Given the description of an element on the screen output the (x, y) to click on. 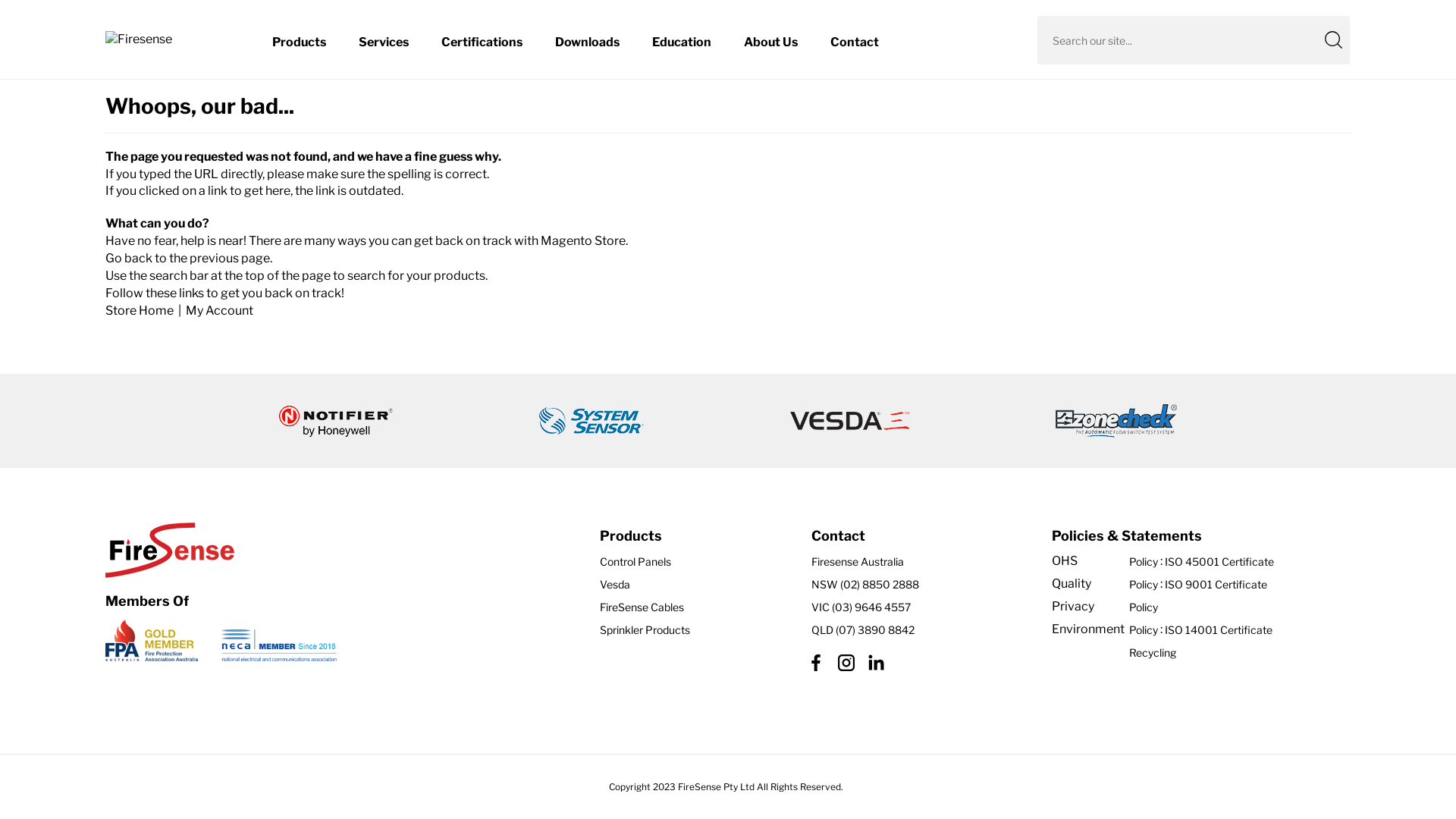
Recycling Element type: text (1201, 652)
Firesense Element type: hover (169, 39)
Contact Element type: text (854, 42)
FireSense Cables Element type: text (693, 607)
Vesda Element type: text (693, 584)
Firesense Element type: hover (169, 39)
Policy Element type: text (1143, 561)
Education Element type: text (681, 42)
Search Element type: text (1332, 39)
Sprinkler Products Element type: text (693, 629)
ISO 9001 Certificate Element type: text (1219, 584)
VIC (03) 9646 4557 Element type: text (920, 607)
Store Home Element type: text (139, 310)
ISO 14001 Certificate Element type: text (1219, 629)
Control Panels Element type: text (693, 561)
Services Element type: text (383, 42)
Policy Element type: text (1143, 584)
Go back Element type: text (128, 258)
Certifications Element type: text (481, 42)
Policy Element type: text (1143, 629)
My Account Element type: text (219, 310)
Firesense Australia Element type: text (920, 561)
Policy Element type: text (1143, 607)
About Us Element type: text (770, 42)
NSW (02) 8850 2888 Element type: text (920, 584)
ISO 45001 Certificate Element type: text (1219, 561)
QLD (07) 3890 8842 Element type: text (920, 629)
Products Element type: text (299, 42)
Downloads Element type: text (586, 42)
